Given the description of an element on the screen output the (x, y) to click on. 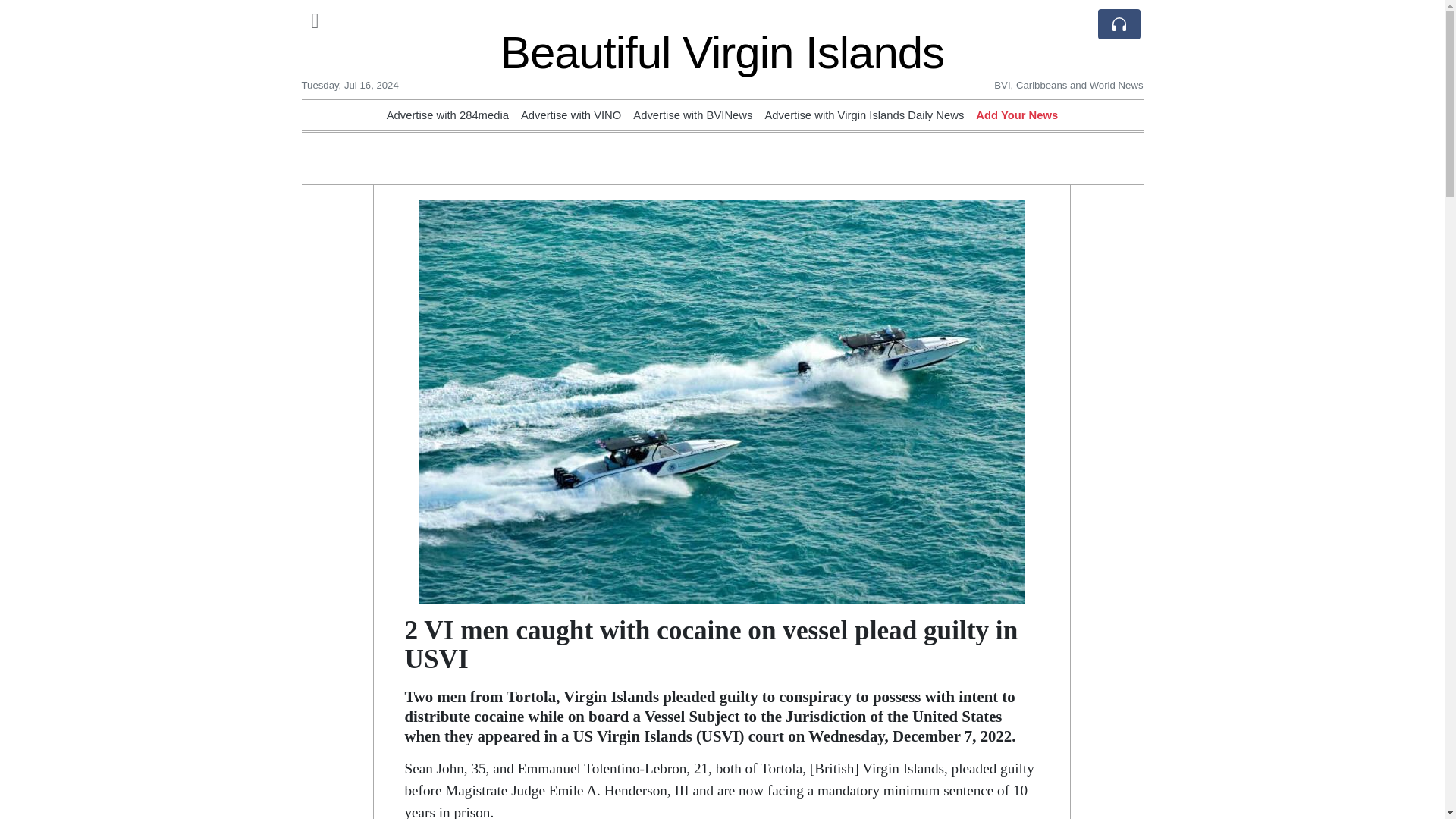
Advertise with BVINews (692, 114)
Add Your News (1016, 114)
Beautiful Virgin Islands (721, 52)
Advertise with VINO (571, 114)
Advertise with 284media (447, 114)
Advertise with Virgin Islands Daily News (863, 114)
